Given the description of an element on the screen output the (x, y) to click on. 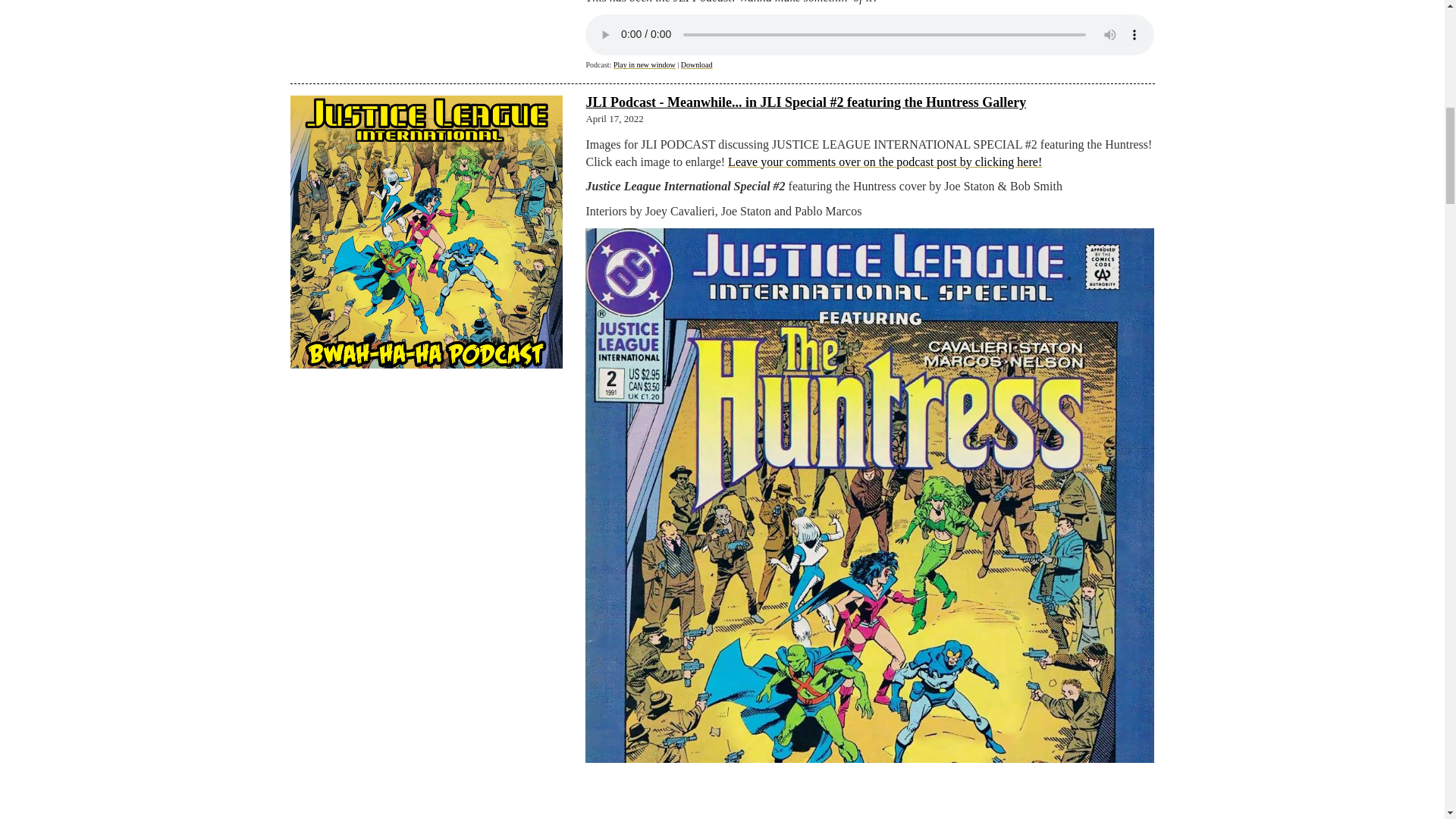
Play in new window (643, 64)
Download (697, 64)
Play in new window (643, 64)
Download (697, 64)
